Given the description of an element on the screen output the (x, y) to click on. 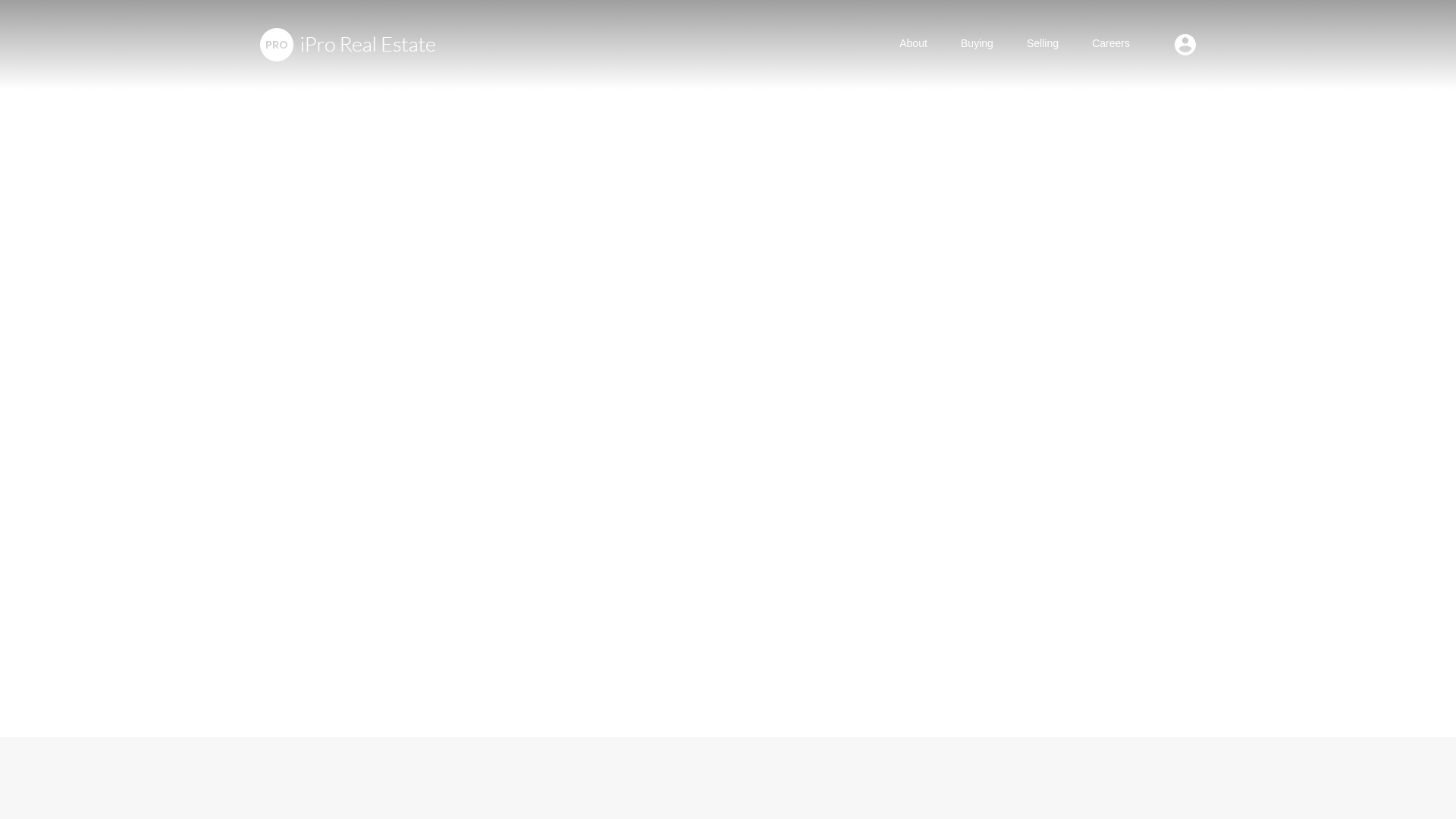
Careers (1110, 44)
About (912, 44)
Buying (976, 44)
Selling (1042, 44)
